Given the description of an element on the screen output the (x, y) to click on. 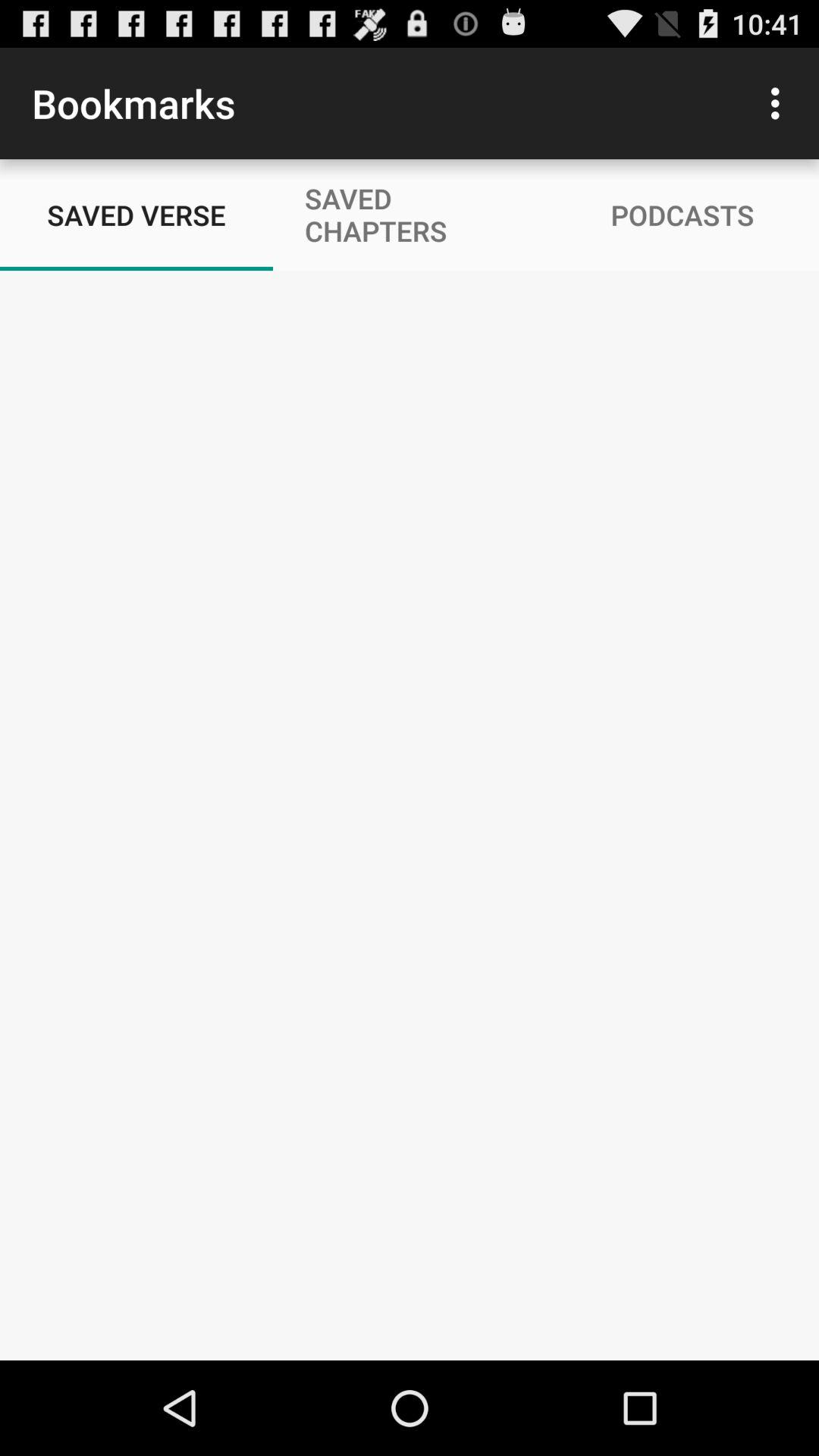
press icon above podcasts icon (779, 103)
